Given the description of an element on the screen output the (x, y) to click on. 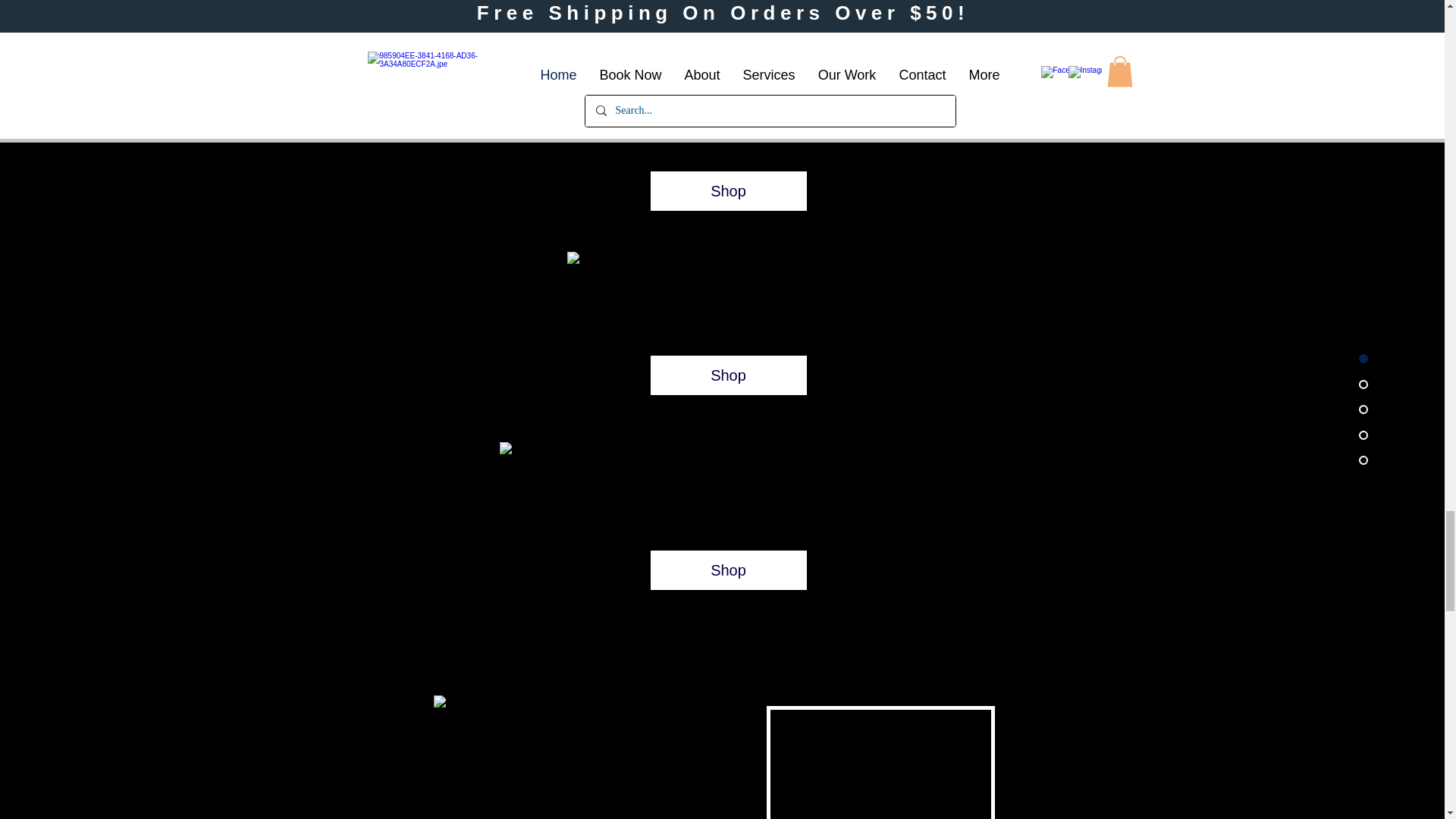
Shop (728, 569)
Shop (728, 190)
Shop (728, 374)
